Given the description of an element on the screen output the (x, y) to click on. 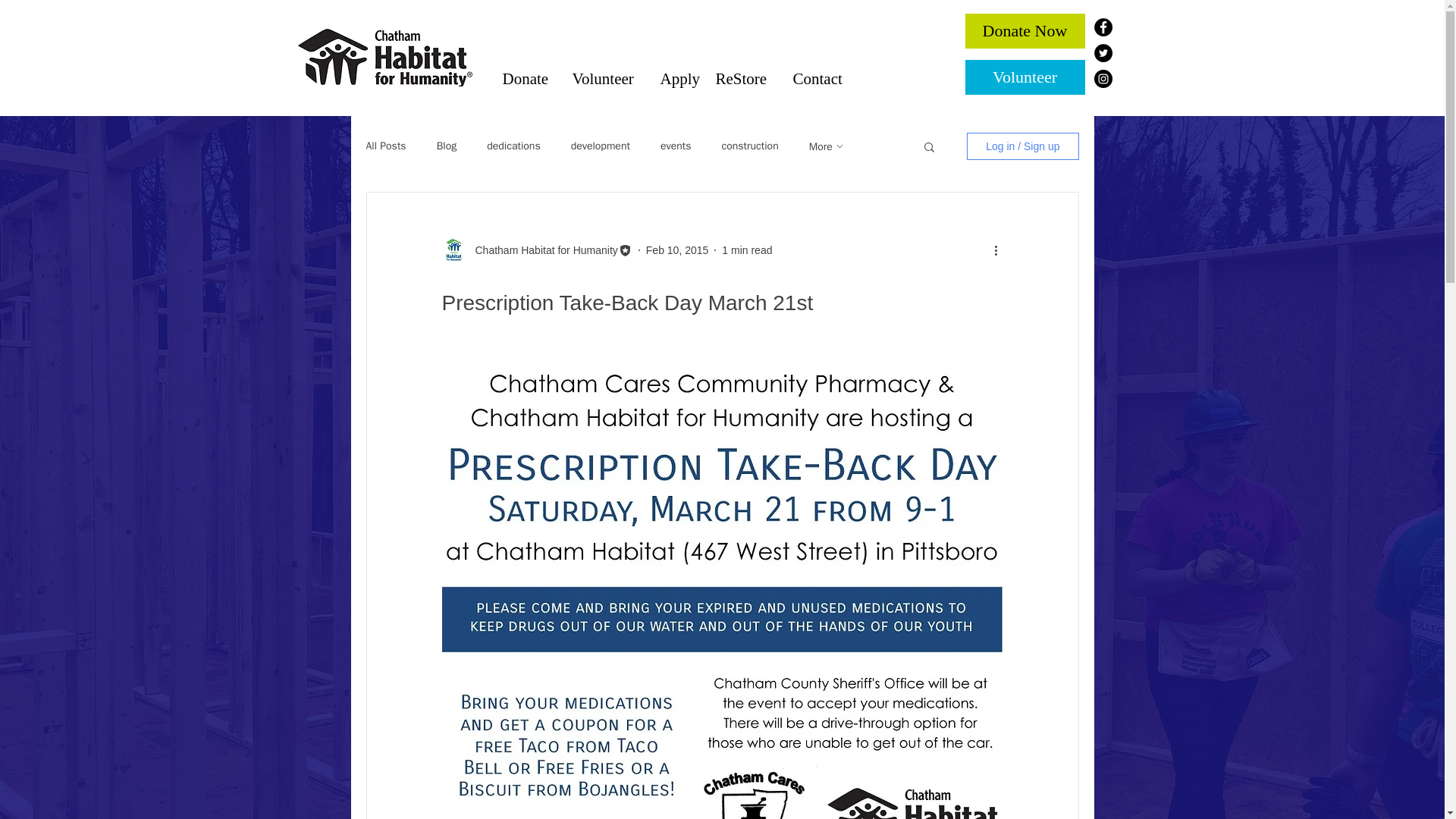
Blog (446, 146)
dedications (513, 146)
Volunteer (608, 78)
Chatham Habitat for Humanity (541, 250)
Feb 10, 2015 (677, 250)
All Posts (385, 146)
Apply (679, 78)
construction (748, 146)
Contact (823, 78)
Donate (529, 78)
